Given the description of an element on the screen output the (x, y) to click on. 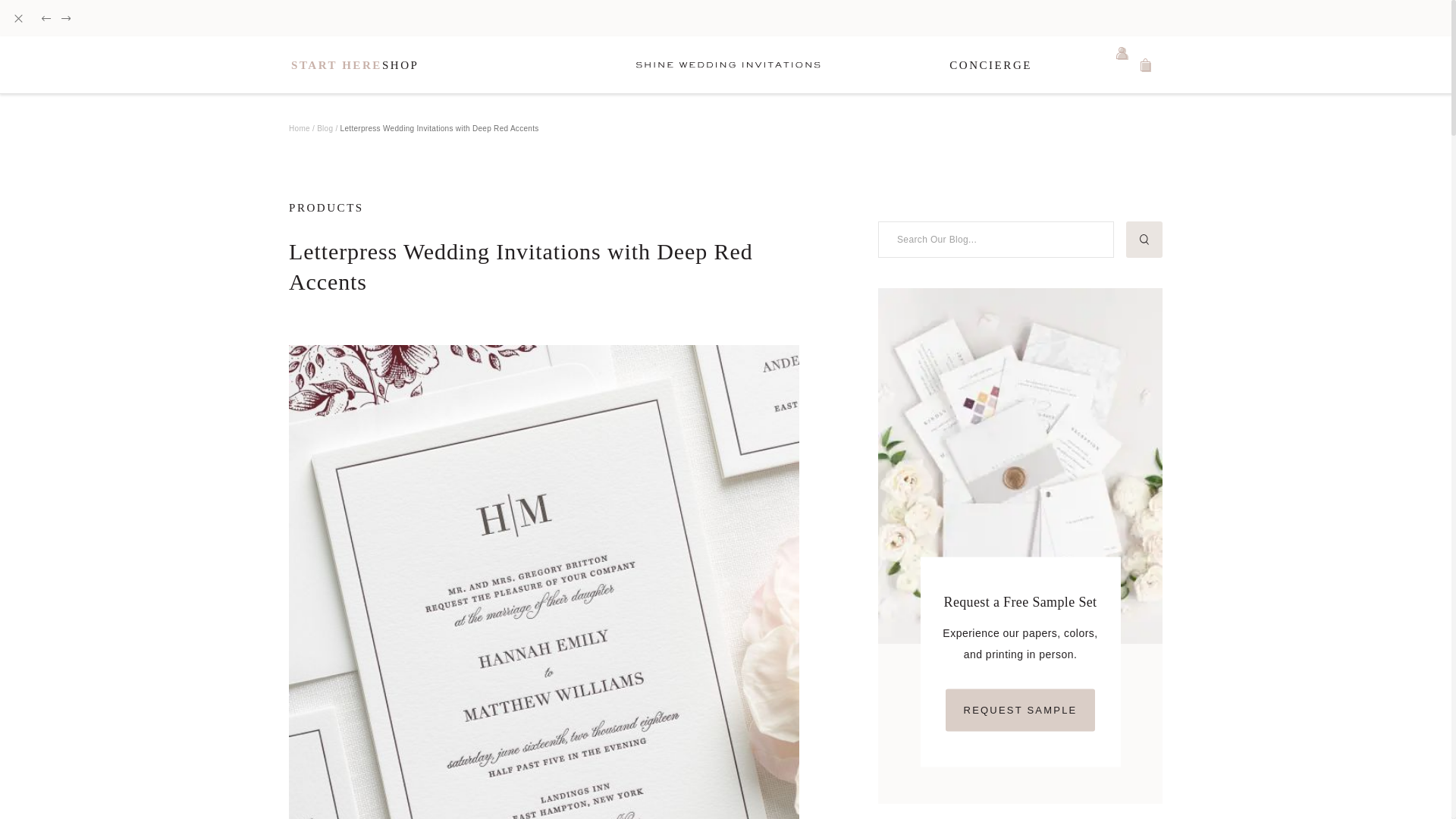
CONCIERGE (990, 65)
Letterpress Wedding Invitations with Deep Red Accents (439, 128)
START HERE (336, 65)
Blog (325, 126)
Home (299, 126)
SHOP (400, 65)
REQUEST SAMPLE (1020, 709)
